Given the description of an element on the screen output the (x, y) to click on. 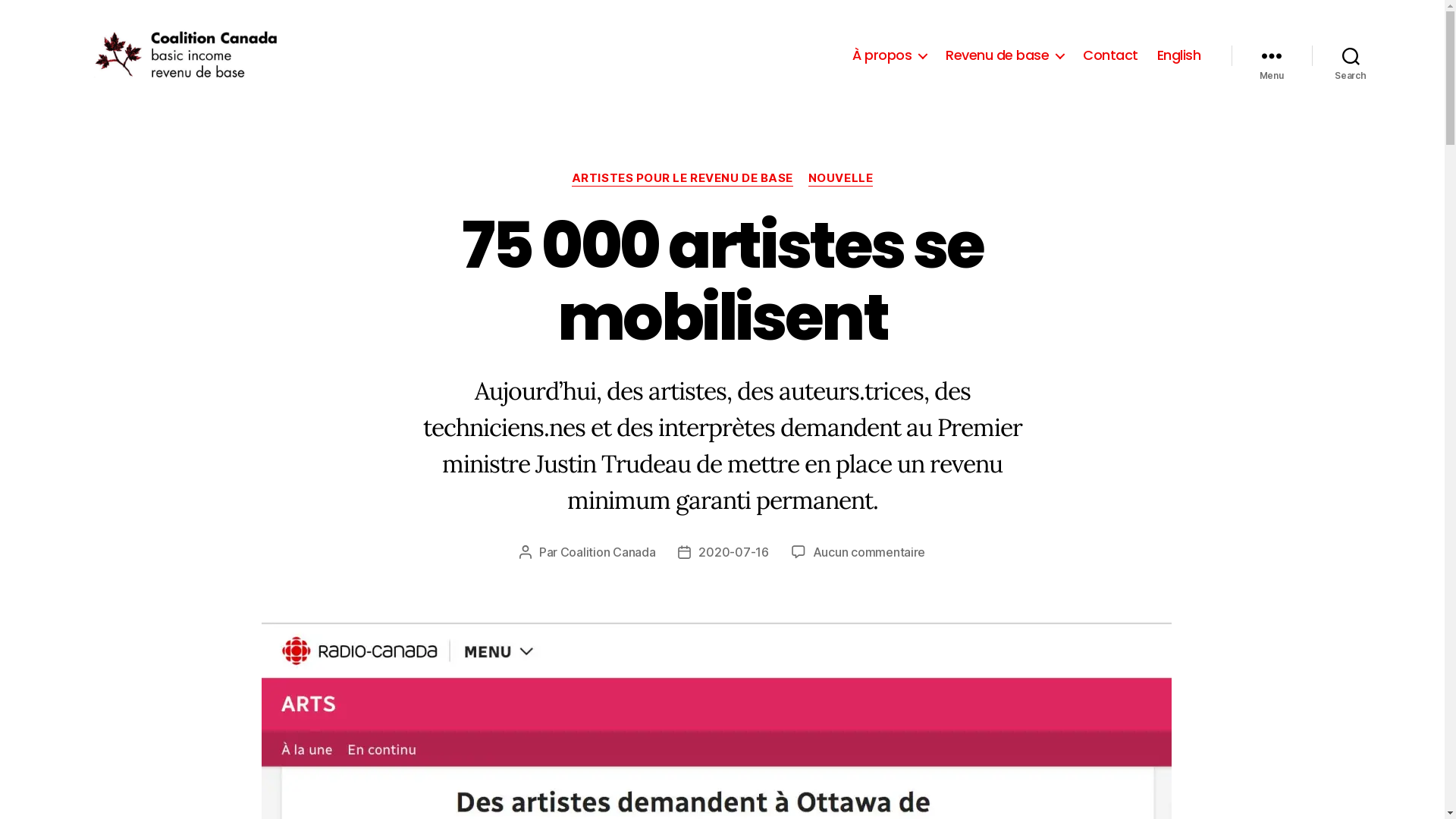
Coalition Canada Element type: text (607, 551)
ARTISTES POUR LE REVENU DE BASE Element type: text (682, 178)
Revenu de base Element type: text (1004, 55)
Search Element type: text (1350, 55)
NOUVELLE Element type: text (840, 178)
Aucun commentaire
sur 75 000 artistes se mobilisent Element type: text (868, 551)
2020-07-16 Element type: text (733, 551)
English Element type: text (1179, 55)
Contact Element type: text (1110, 55)
Menu Element type: text (1271, 55)
